Given the description of an element on the screen output the (x, y) to click on. 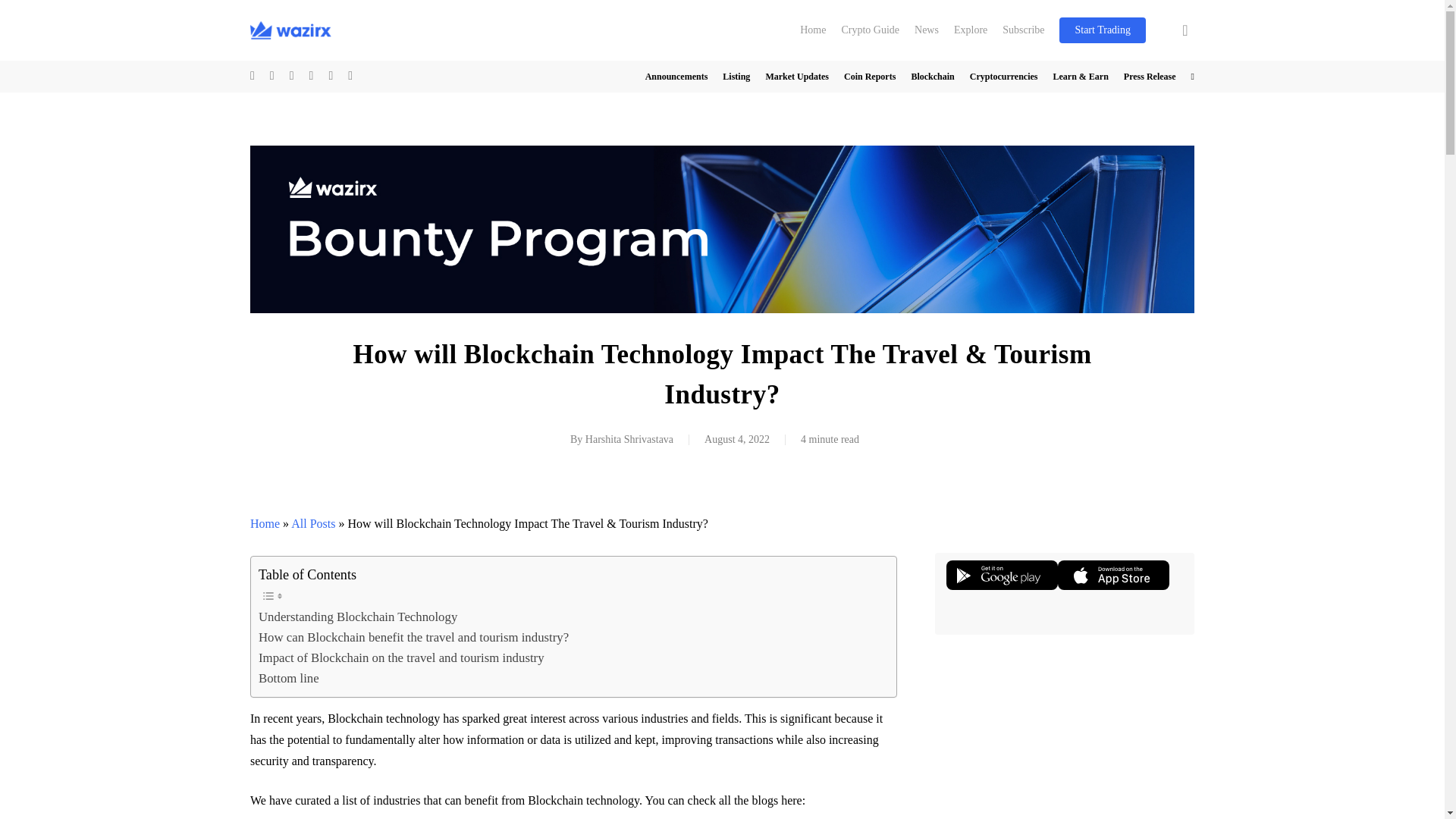
search (1184, 30)
Start Trading (1102, 29)
Explore (970, 29)
Press Release (1150, 76)
Cryptocurrencies (1003, 76)
Blockchain (932, 76)
Crypto Guide (869, 29)
Harshita Shrivastava (628, 439)
Market Updates (796, 76)
Listing (735, 76)
